Given the description of an element on the screen output the (x, y) to click on. 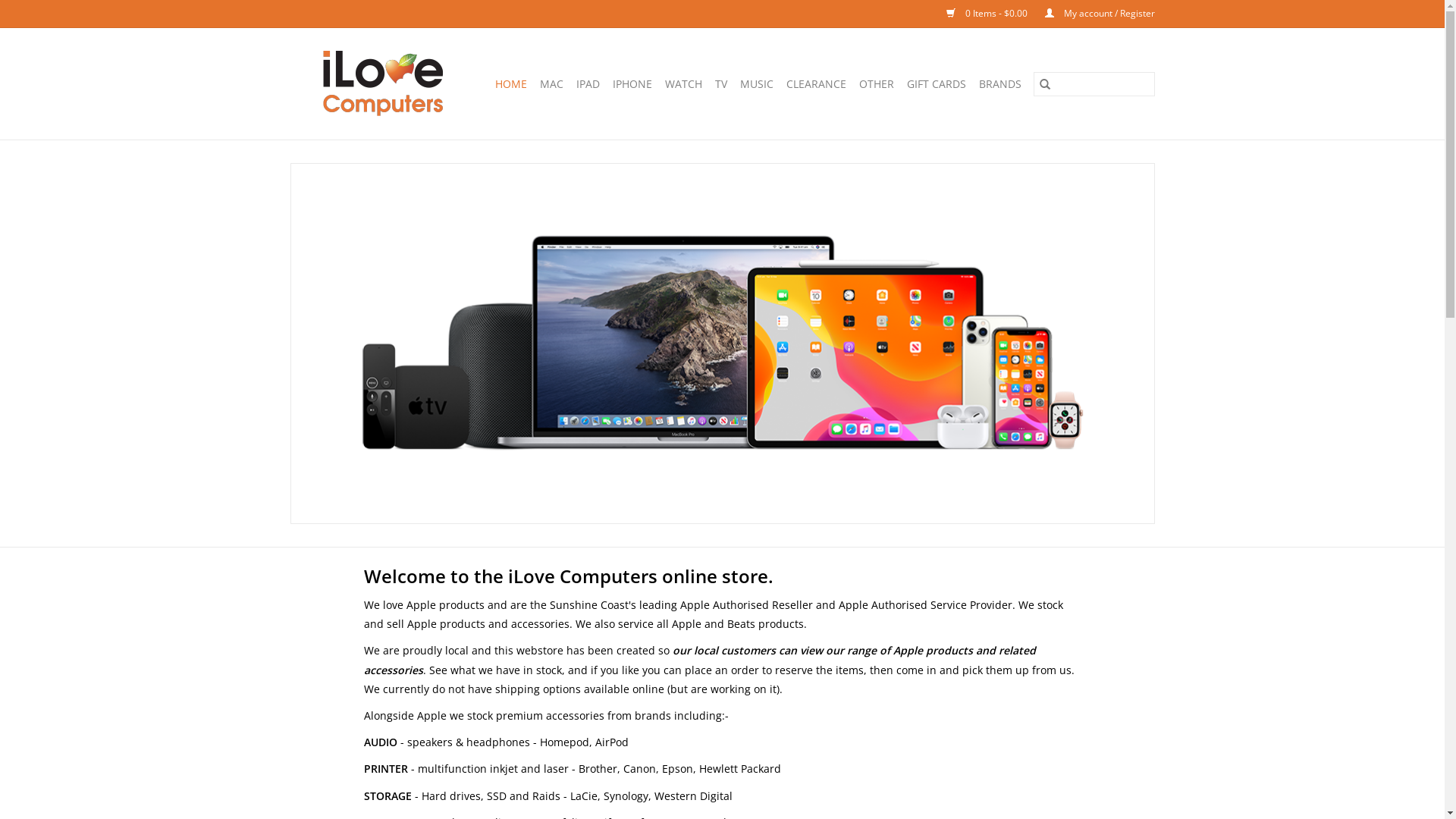
Search Element type: hover (1043, 83)
MAC Element type: text (551, 83)
IPHONE Element type: text (632, 83)
CLEARANCE Element type: text (815, 83)
MUSIC Element type: text (756, 83)
GIFT CARDS Element type: text (936, 83)
0 Items - $0.00 Element type: text (980, 12)
HOME Element type: text (509, 83)
TV Element type: text (720, 83)
BRANDS Element type: text (999, 83)
iLove Computers Element type: hover (383, 83)
My account / Register Element type: text (1091, 12)
WATCH Element type: text (682, 83)
IPAD Element type: text (587, 83)
OTHER Element type: text (875, 83)
